Given the description of an element on the screen output the (x, y) to click on. 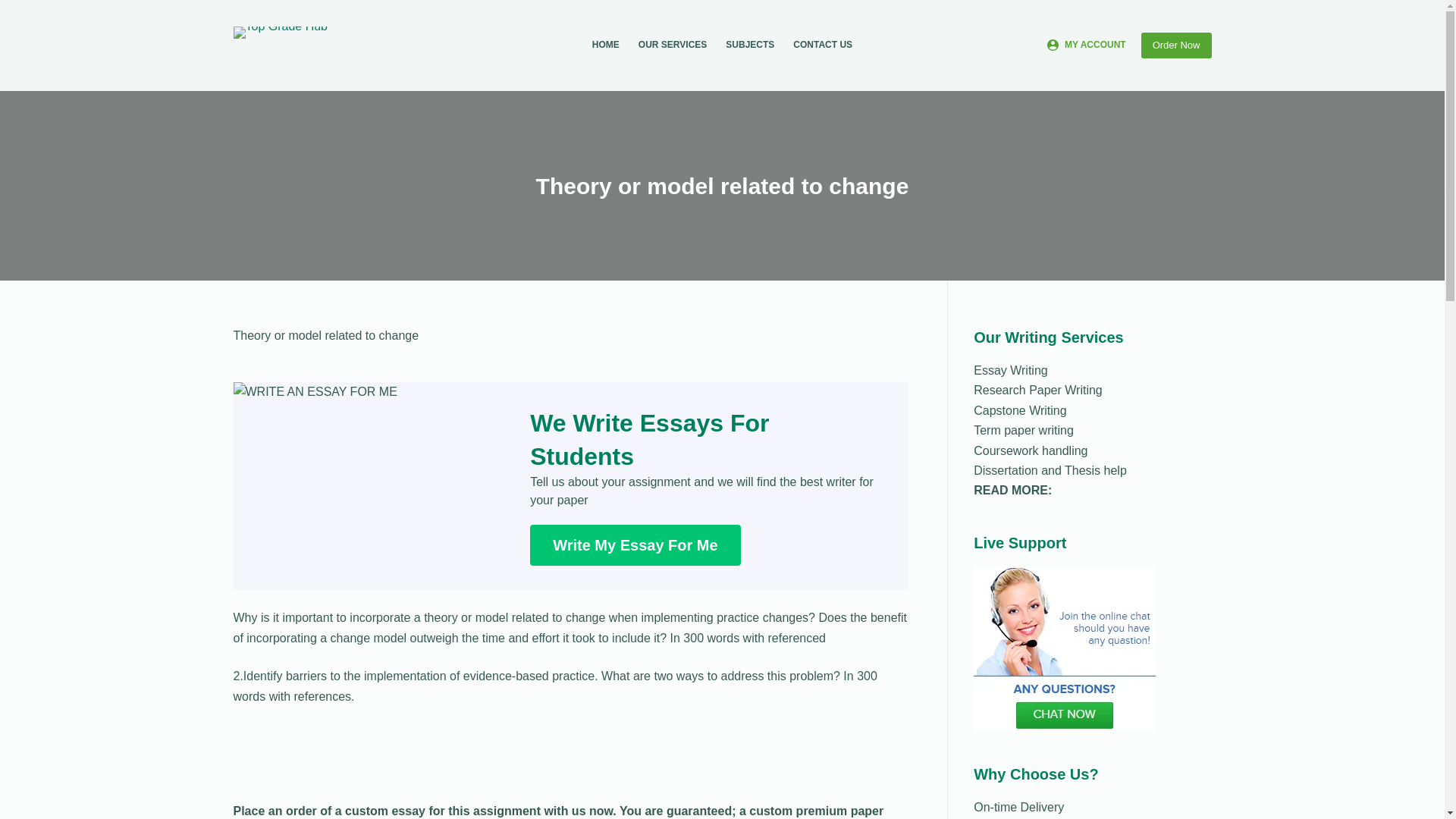
Order Now (1176, 45)
Skip to content (15, 7)
Theory or model related to change (722, 185)
OUR SERVICES (672, 45)
SUBJECTS (750, 45)
MY ACCOUNT (1085, 45)
Write My Essay For Me (634, 544)
READ MORE: (1012, 490)
CONTACT US (822, 45)
HOME (605, 45)
